Given the description of an element on the screen output the (x, y) to click on. 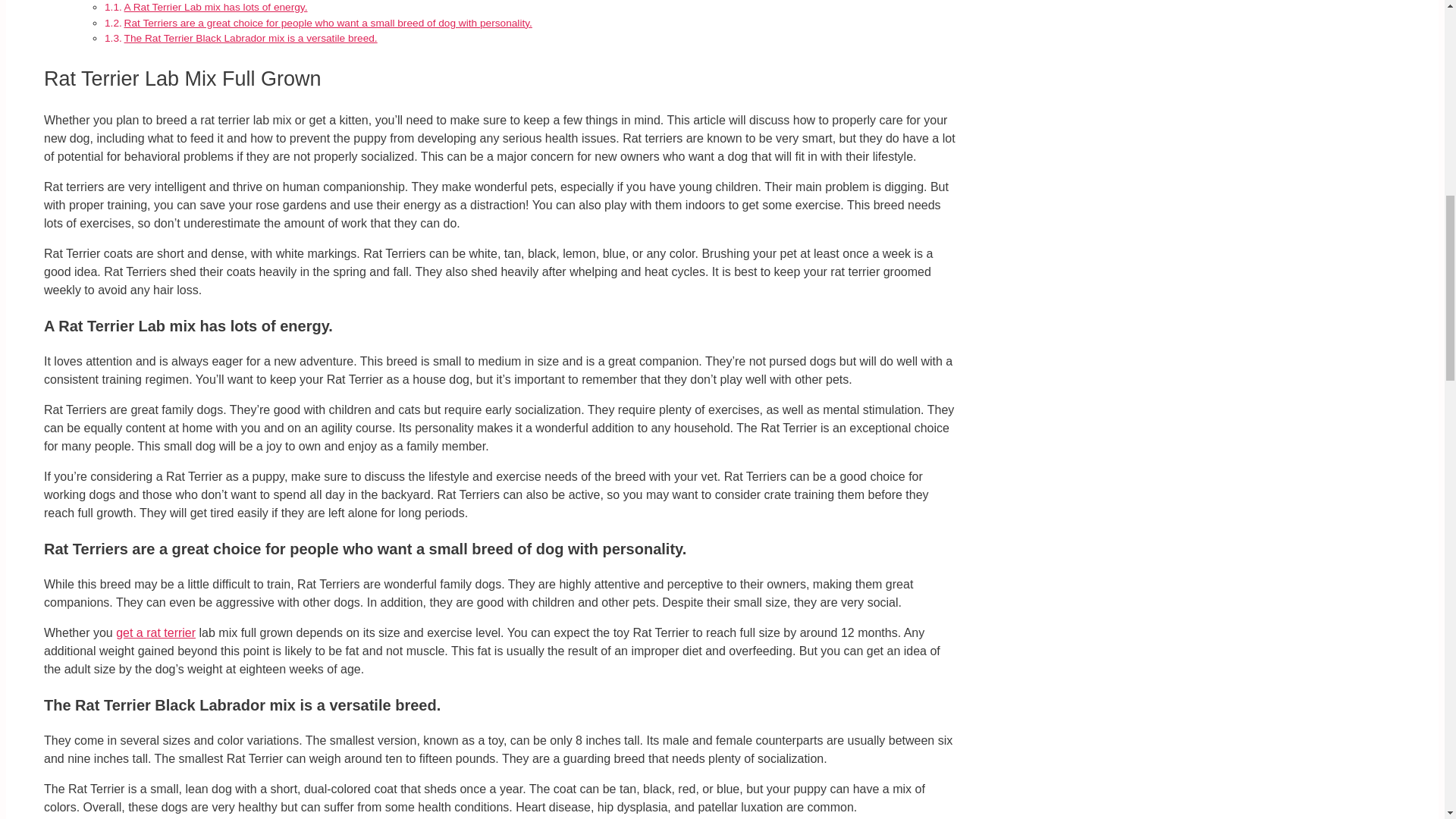
A Rat Terrier Lab mix has lots of energy. (215, 7)
The Rat Terrier Black Labrador mix is a versatile breed. (250, 38)
A Rat Terrier Lab mix has lots of energy. (215, 7)
get a rat terrier (155, 632)
The Rat Terrier Black Labrador mix is a versatile breed. (250, 38)
